Given the description of an element on the screen output the (x, y) to click on. 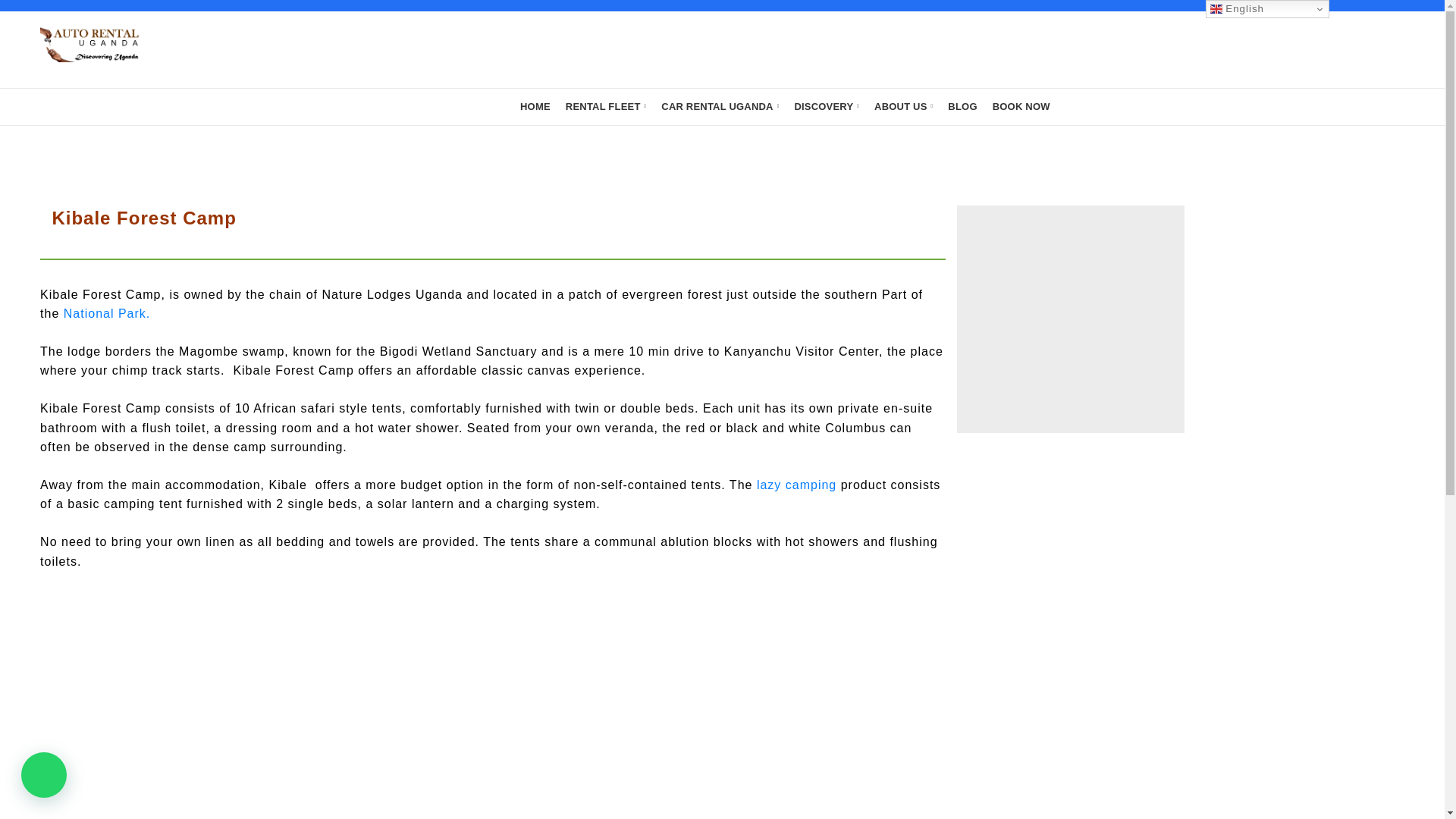
DISCOVERY (826, 106)
HOME (534, 106)
RENTAL FLEET (605, 106)
CAR RENTAL UGANDA (719, 106)
